Given the description of an element on the screen output the (x, y) to click on. 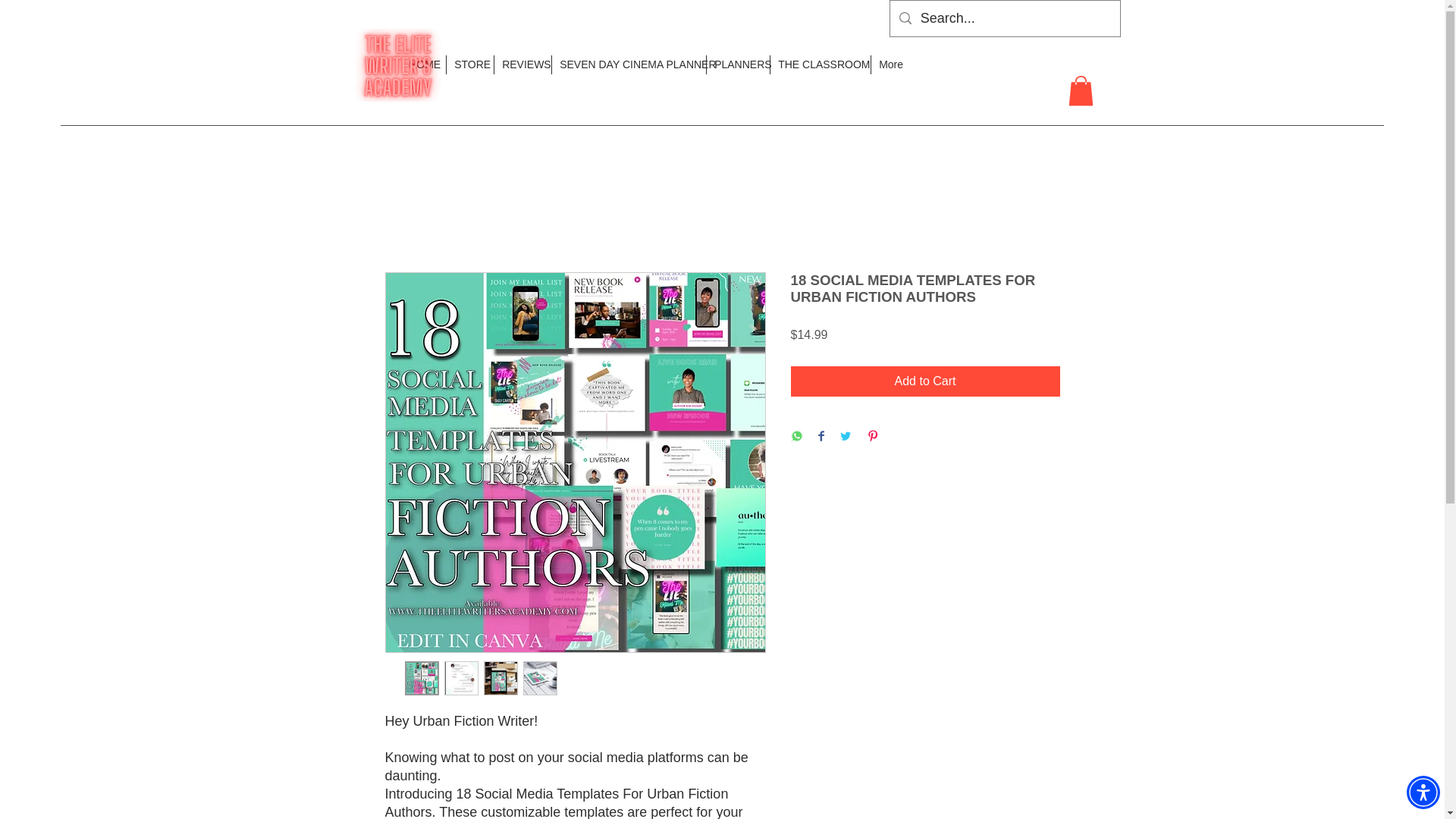
PLANNERS (738, 64)
Accessibility Menu (1422, 792)
HOME (423, 64)
STORE (469, 64)
THE CLASSROOM (820, 64)
Add to Cart (924, 381)
REVIEWS (522, 64)
SEVEN DAY CINEMA PLANNER (628, 64)
